Given the description of an element on the screen output the (x, y) to click on. 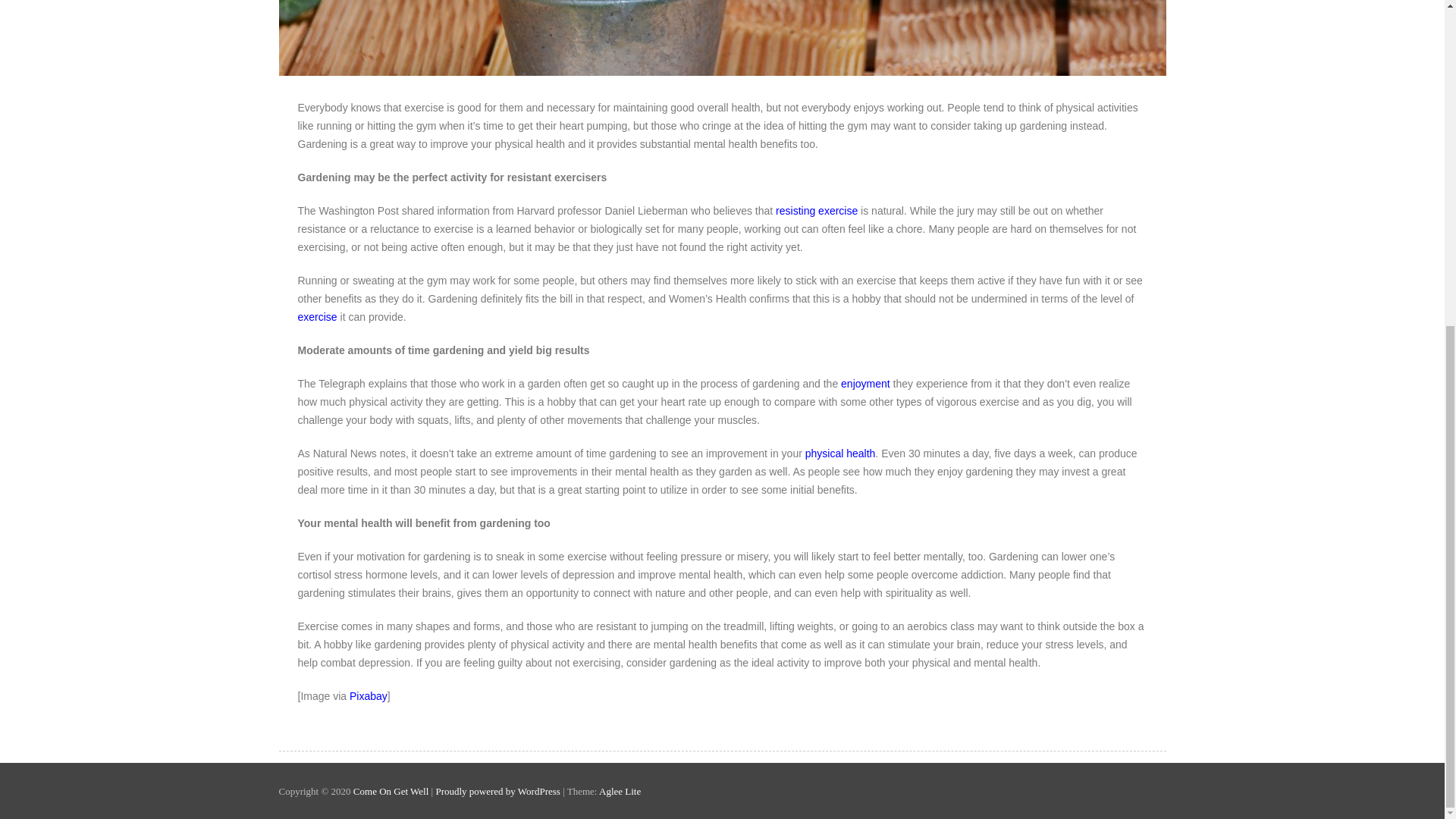
resisting exercise (816, 210)
Pixabay (368, 695)
Proudly powered by WordPress (497, 790)
enjoyment (865, 383)
physical health (840, 453)
Come On Get Well (391, 790)
exercise (316, 316)
Aglee Lite (619, 790)
